Given the description of an element on the screen output the (x, y) to click on. 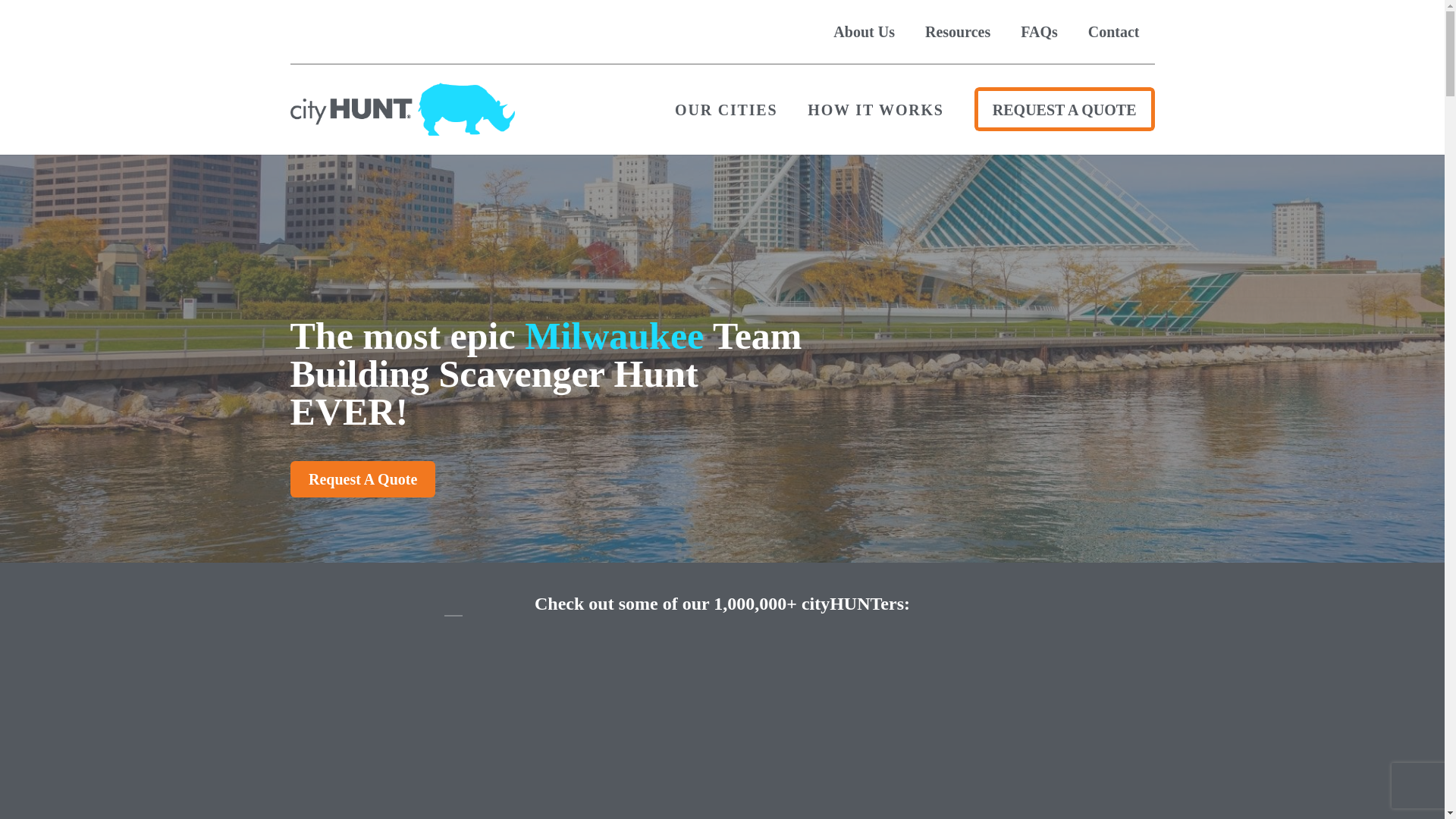
Request A Quote (368, 480)
Resources (958, 31)
HOW IT WORKS (875, 108)
Contact (1113, 31)
OUR CITIES (726, 108)
FAQs (1039, 31)
REQUEST A QUOTE (1064, 108)
About Us (864, 31)
